Given the description of an element on the screen output the (x, y) to click on. 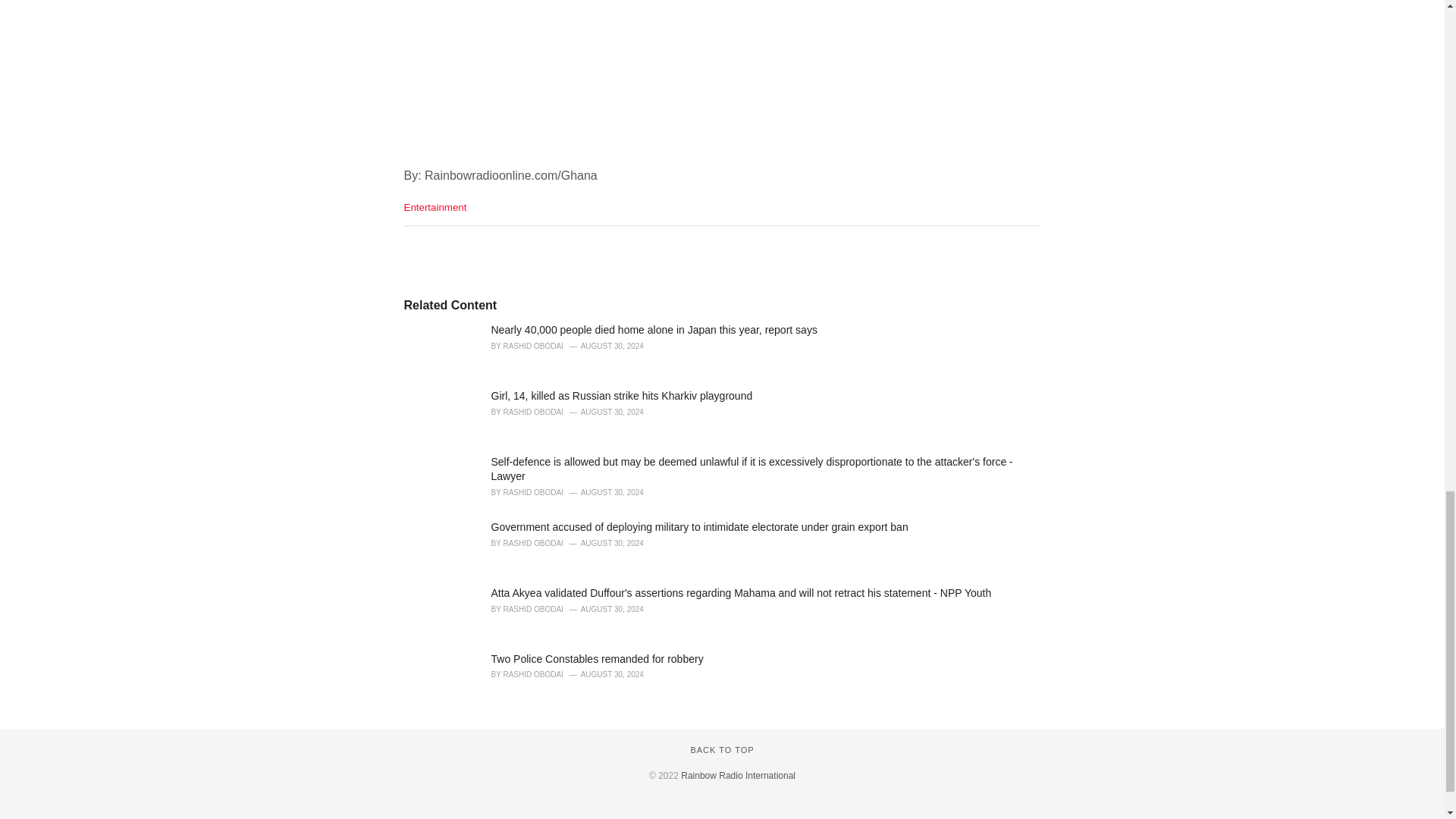
BACK TO TOP (722, 749)
Two Police Constables remanded for robbery (597, 658)
Entertainment (434, 206)
Girl, 14, killed as Russian strike hits Kharkiv playground (622, 395)
Rainbow Radio International (737, 775)
Rainbow Radio Int. (737, 775)
